Given the description of an element on the screen output the (x, y) to click on. 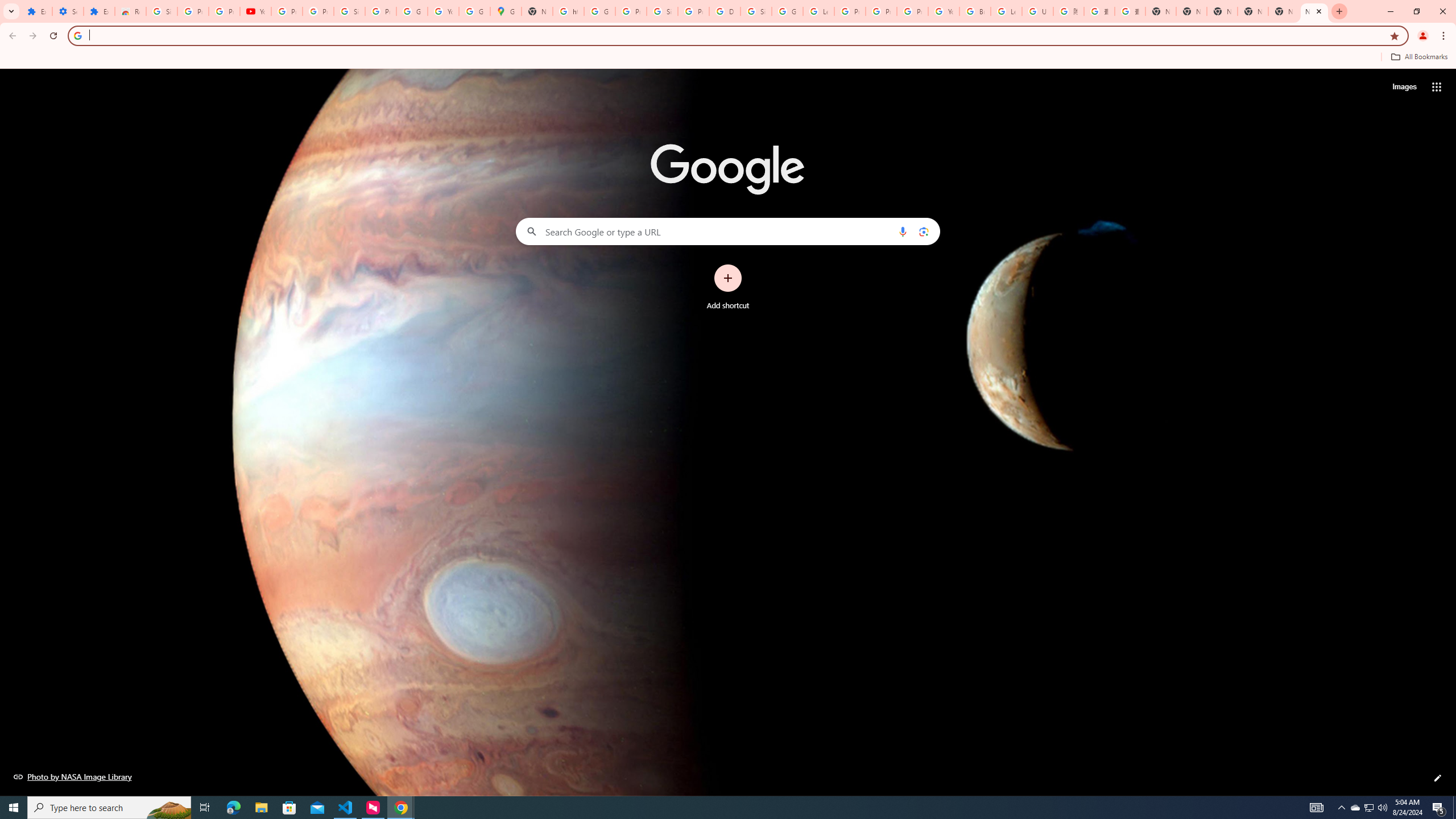
Extensions (36, 11)
https://scholar.google.com/ (568, 11)
Google Maps (505, 11)
Sign in - Google Accounts (349, 11)
Bookmarks (728, 58)
Sign in - Google Accounts (662, 11)
Privacy Help Center - Policies Help (881, 11)
